Given the description of an element on the screen output the (x, y) to click on. 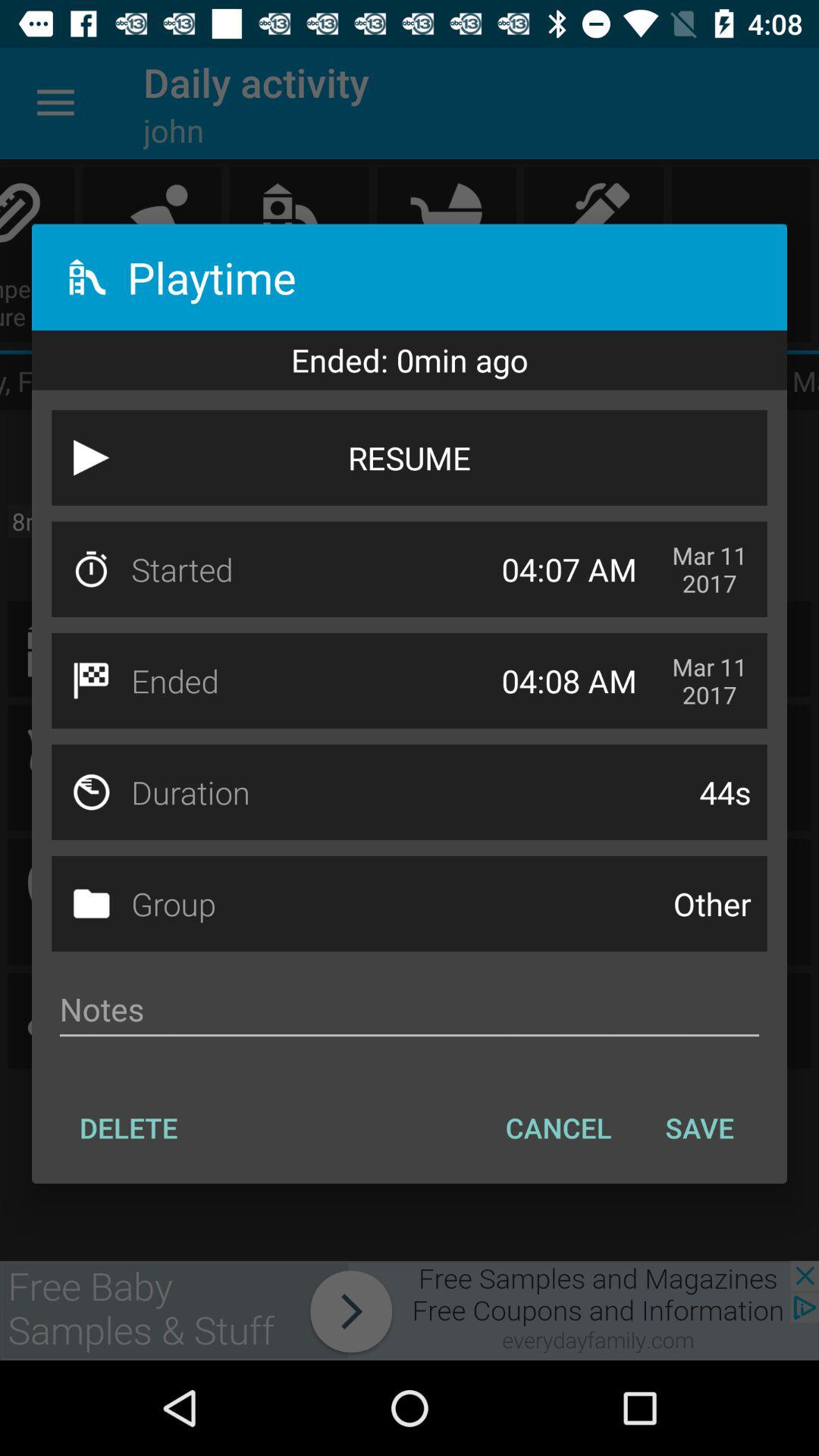
select delete at the bottom left corner (128, 1127)
